Given the description of an element on the screen output the (x, y) to click on. 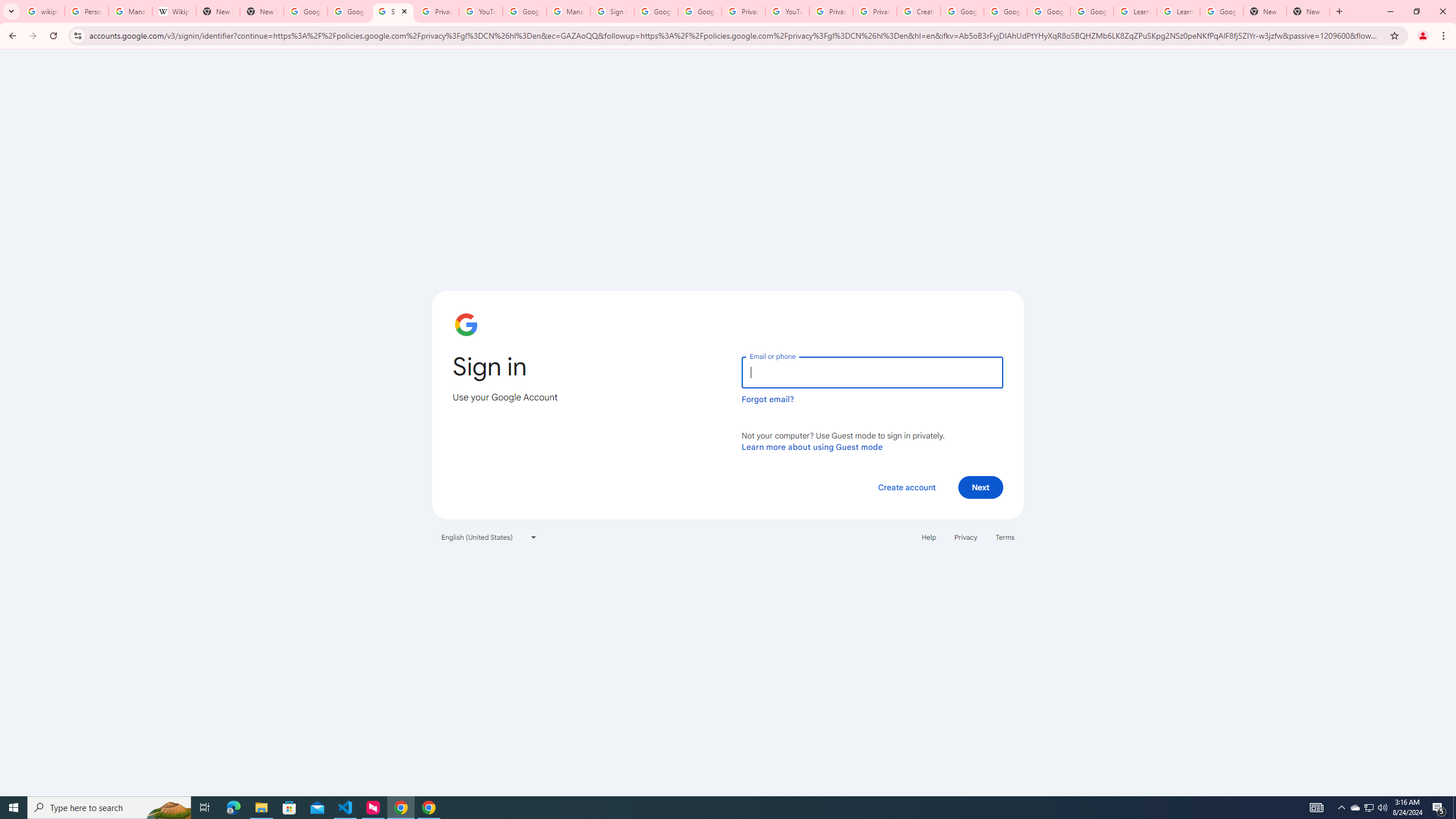
Google Account Help (524, 11)
New Tab (1308, 11)
Google Account Help (962, 11)
Email or phone (871, 372)
New Tab (261, 11)
Manage your Location History - Google Search Help (130, 11)
